Given the description of an element on the screen output the (x, y) to click on. 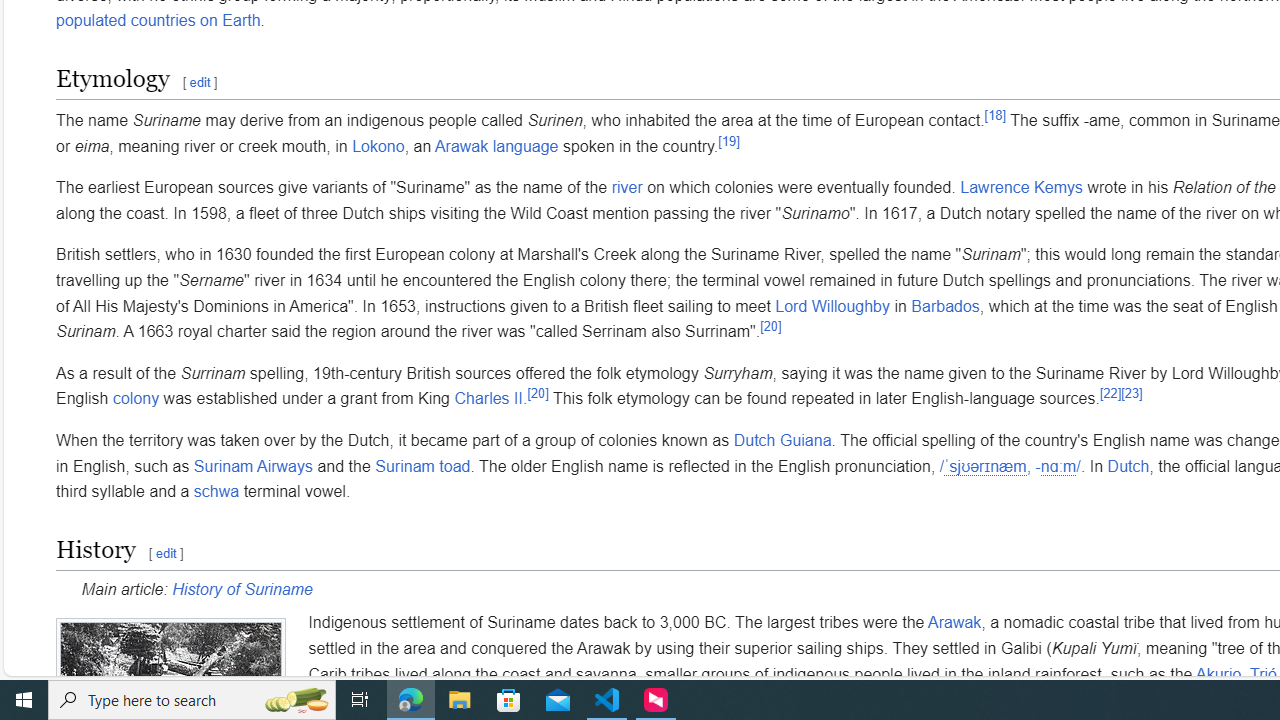
Arawak (954, 623)
Dutch (1128, 466)
schwa (216, 492)
colony (136, 399)
Arawak language (496, 145)
Akurio (1218, 674)
Charles II (488, 399)
Surinam toad (423, 466)
Lord Willoughby (832, 305)
Lawrence Kemys (1022, 188)
river (626, 188)
Dutch Guiana (782, 440)
History of Suriname (242, 589)
[22] (1110, 393)
